Given the description of an element on the screen output the (x, y) to click on. 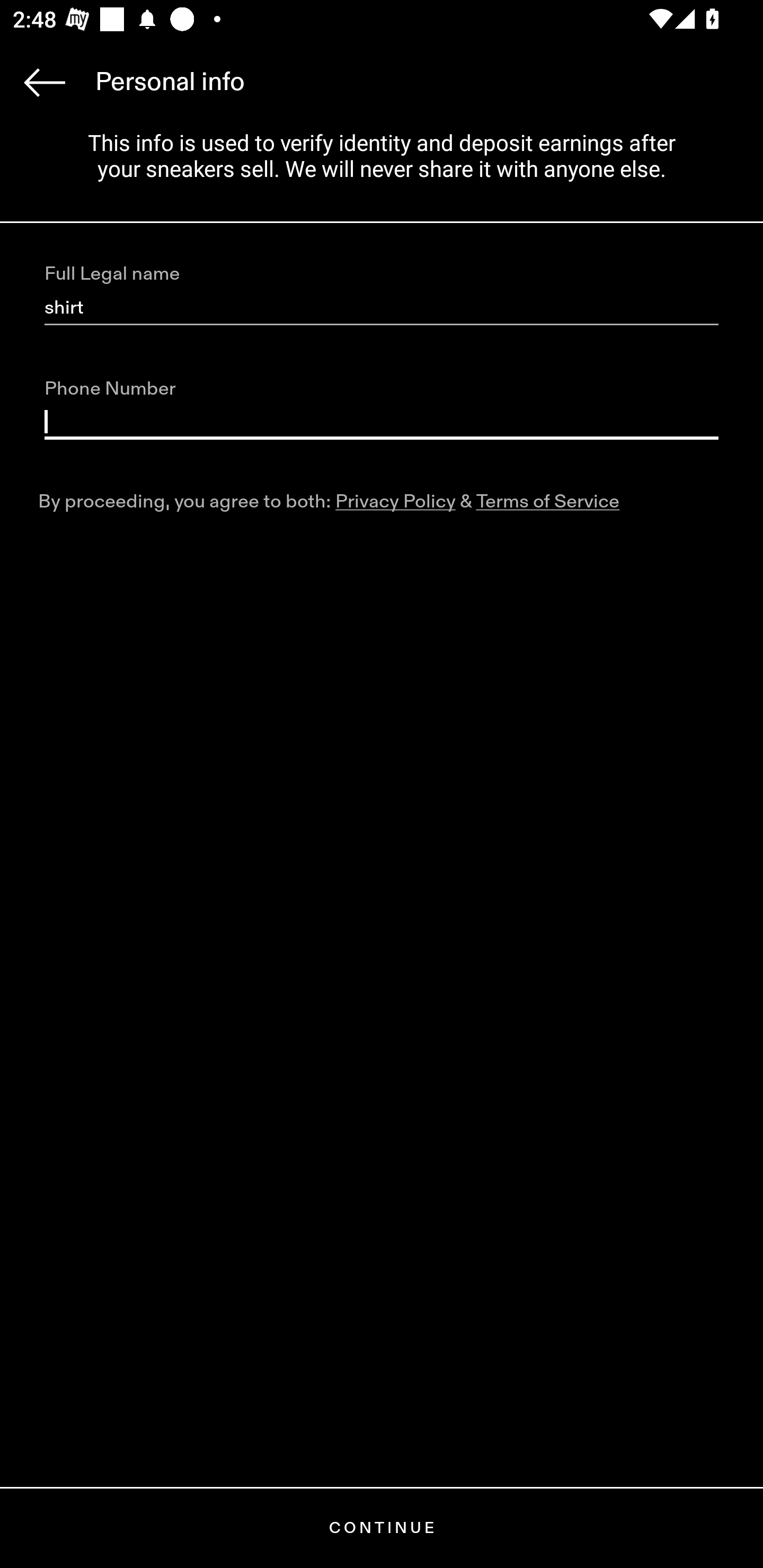
Navigate up (44, 82)
shirt (381, 308)
Phone Number (381, 422)
CONTINUE (381, 1528)
